Given the description of an element on the screen output the (x, y) to click on. 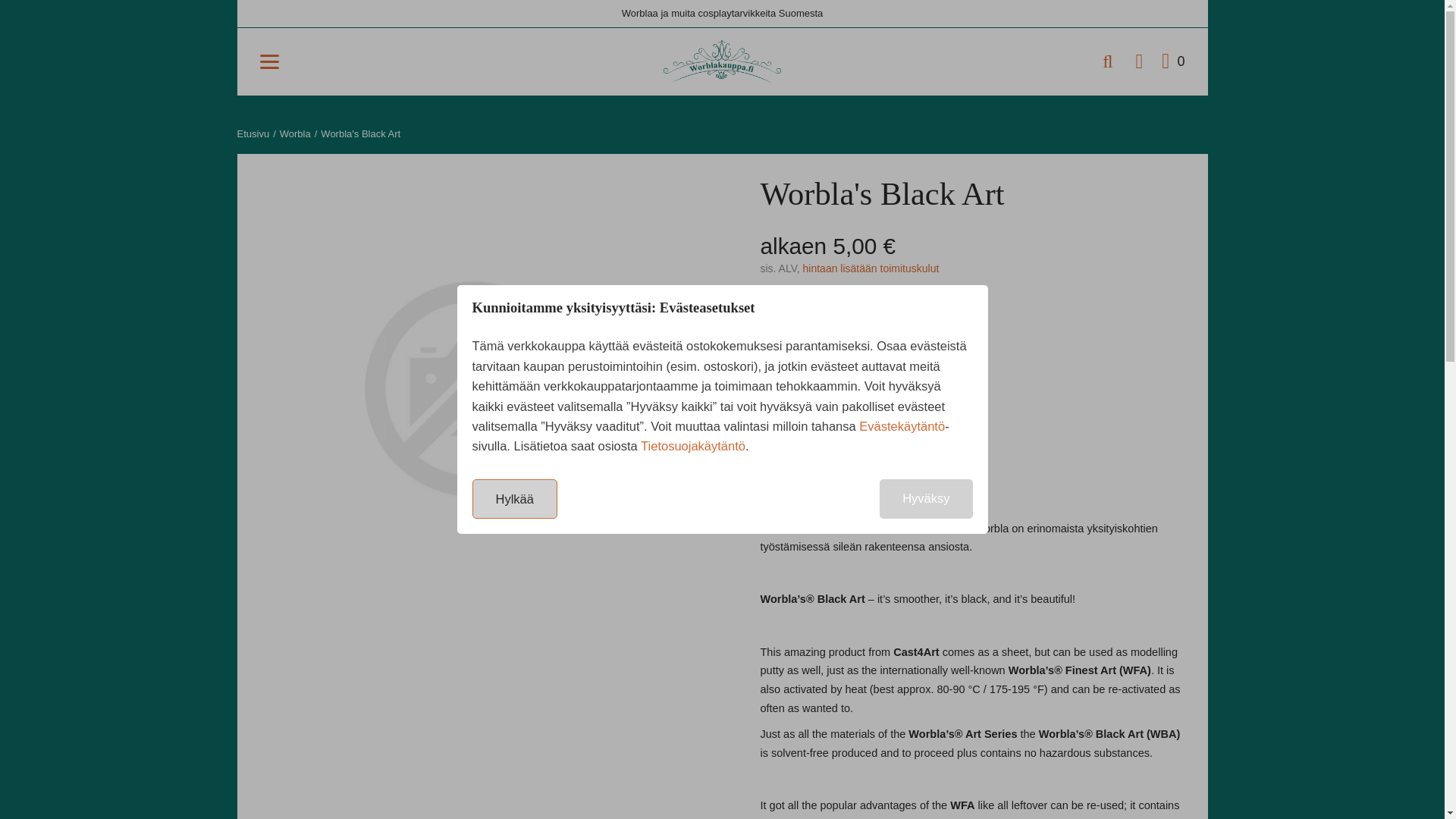
Etusivu (252, 133)
Valitse vaihtoehto. (837, 357)
Worblakauppa.fi (721, 61)
Worbla's Black Art (360, 133)
Worbla (295, 133)
